Given the description of an element on the screen output the (x, y) to click on. 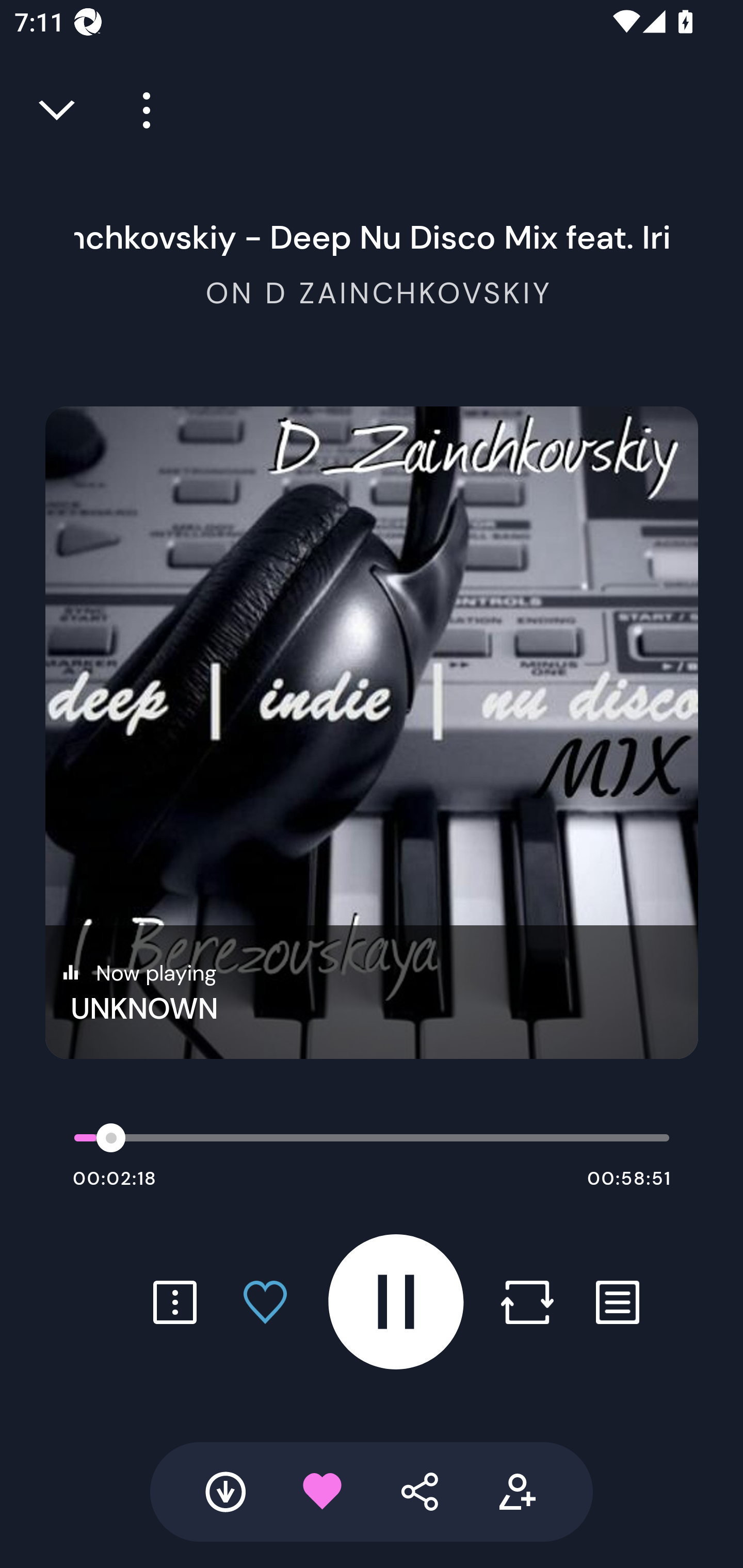
Close full player (58, 110)
Player more options button (139, 110)
Repost button (527, 1301)
